Given the description of an element on the screen output the (x, y) to click on. 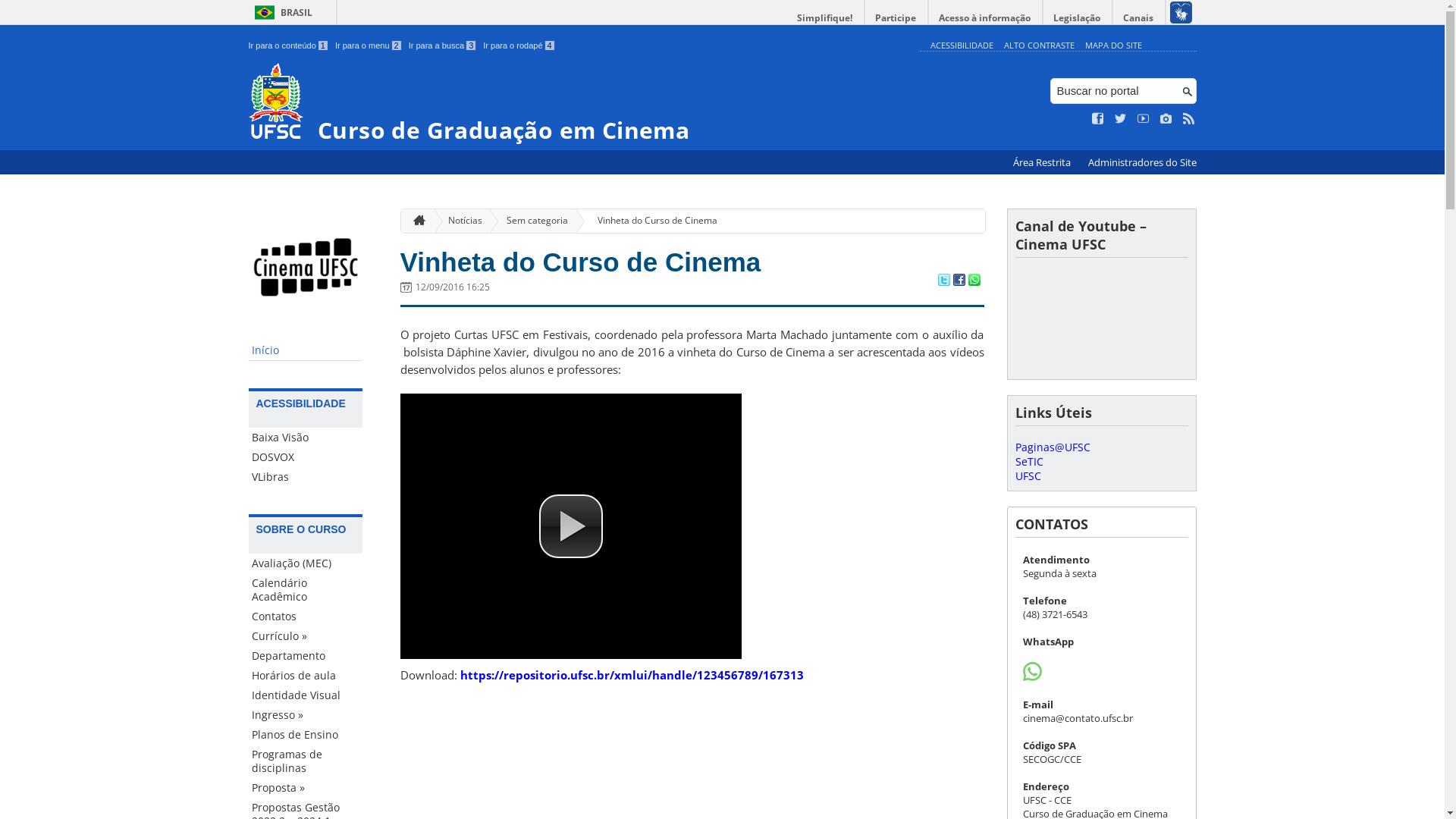
ALTO CONTRASTE Element type: text (1039, 44)
Siga no Twitter Element type: hover (1120, 118)
Administradores do Site Element type: text (1141, 162)
Curta no Facebook Element type: hover (1098, 118)
BRASIL Element type: text (280, 12)
Ir para o menu 2 Element type: text (368, 45)
Planos de Ensino Element type: text (305, 734)
Vinheta do Curso de Cinema Element type: text (580, 261)
Programas de disciplinas Element type: text (305, 761)
Vinheta do Curso de Cinema Element type: text (651, 220)
ACESSIBILIDADE Element type: text (960, 44)
Paginas@UFSC Element type: text (1051, 446)
DOSVOX Element type: text (305, 457)
VLibras Element type: text (305, 476)
Participe Element type: text (895, 18)
Sem categoria Element type: text (531, 220)
Compartilhar no Twitter Element type: hover (943, 280)
Departamento Element type: text (305, 655)
https://repositorio.ufsc.br/xmlui/handle/123456789/167313 Element type: text (631, 674)
Canais Element type: text (1138, 18)
Ir para a busca 3 Element type: text (442, 45)
Compartilhar no WhatsApp Element type: hover (973, 280)
Contatos Element type: text (305, 616)
Veja no Instagram Element type: hover (1166, 118)
Identidade Visual Element type: text (305, 695)
Simplifique! Element type: text (825, 18)
UFSC Element type: text (1027, 475)
SeTIC Element type: text (1028, 461)
MAPA DO SITE Element type: text (1112, 44)
Compartilhar no Facebook Element type: hover (958, 280)
